Given the description of an element on the screen output the (x, y) to click on. 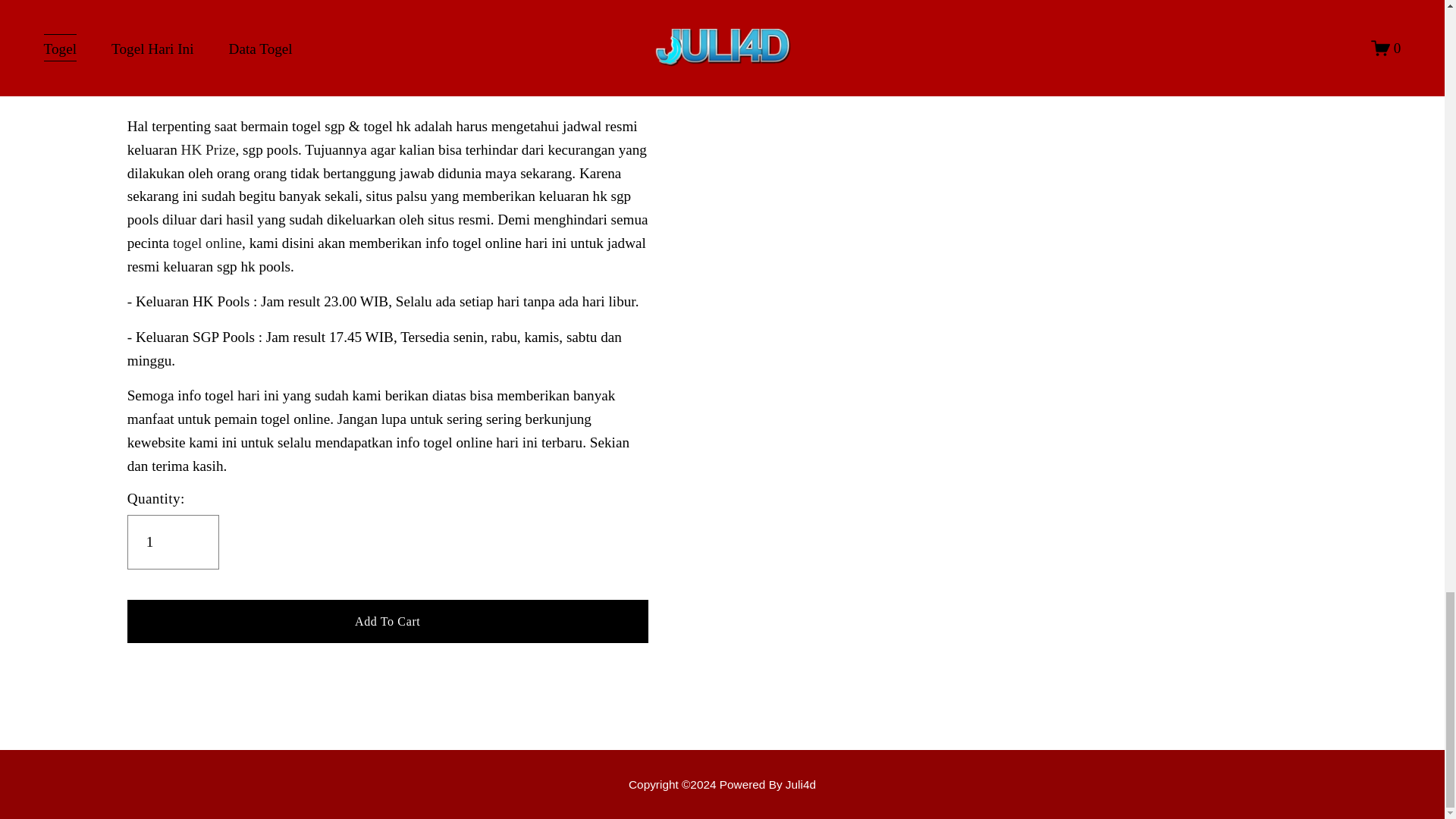
Add To Cart (387, 620)
1 (173, 542)
HK Prize (207, 149)
togel online (207, 242)
Keluaran HK (721, 784)
